Given the description of an element on the screen output the (x, y) to click on. 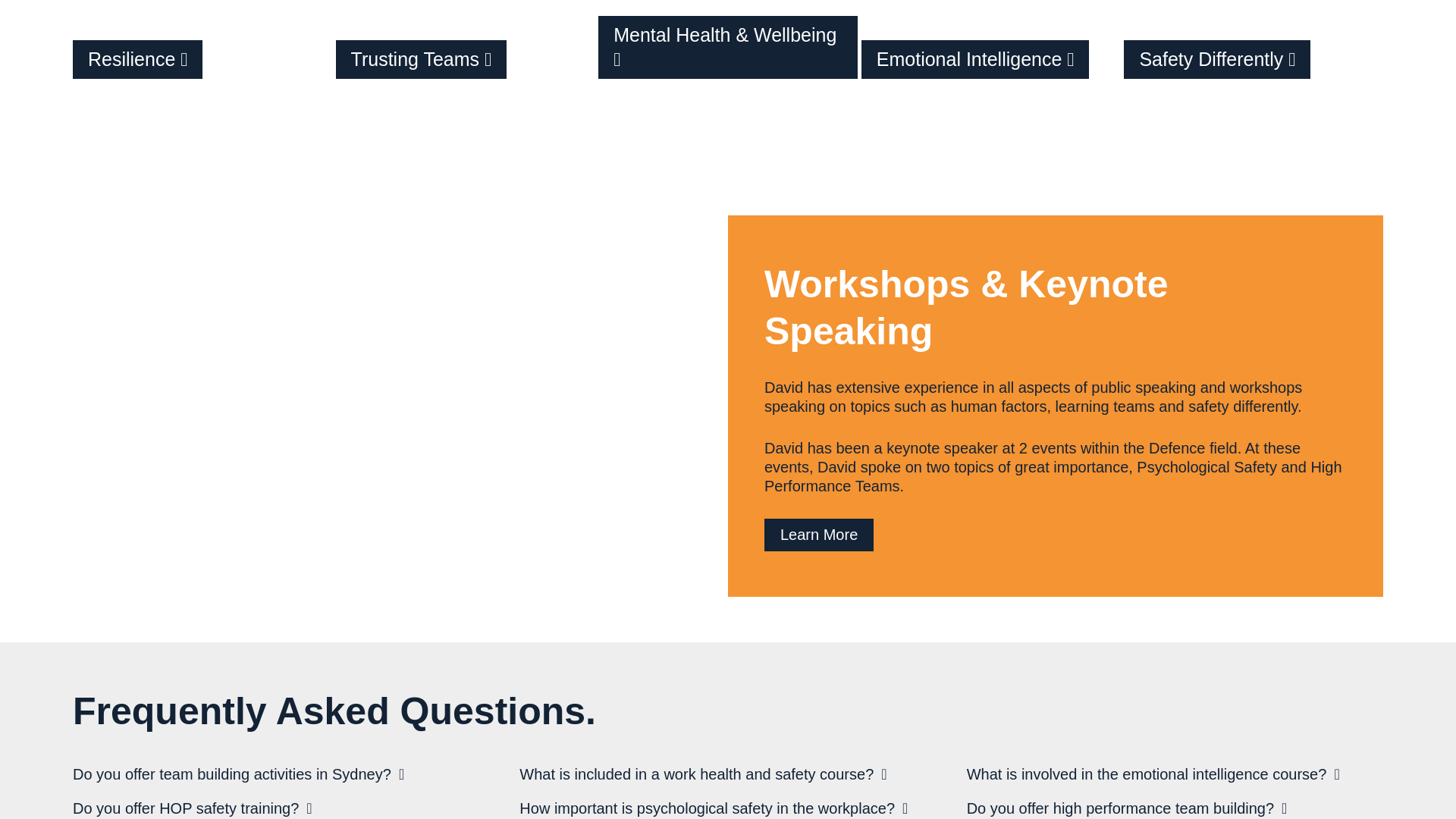
Emotional Intelligence (991, 54)
Trusting Teams (465, 54)
Safety Differently (1253, 54)
Resilience (201, 54)
